Given the description of an element on the screen output the (x, y) to click on. 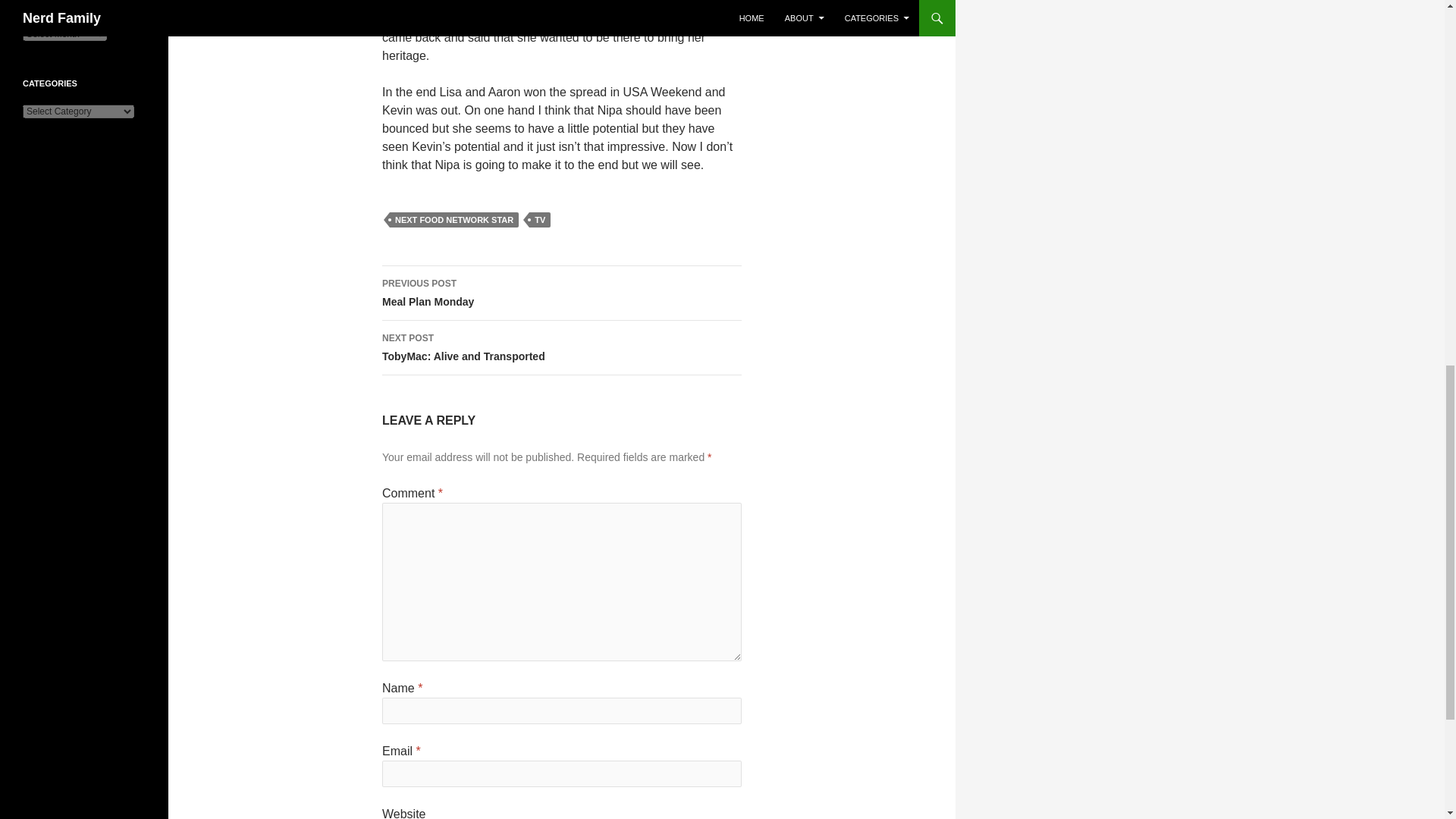
NEXT FOOD NETWORK STAR (561, 293)
TV (454, 219)
